Given the description of an element on the screen output the (x, y) to click on. 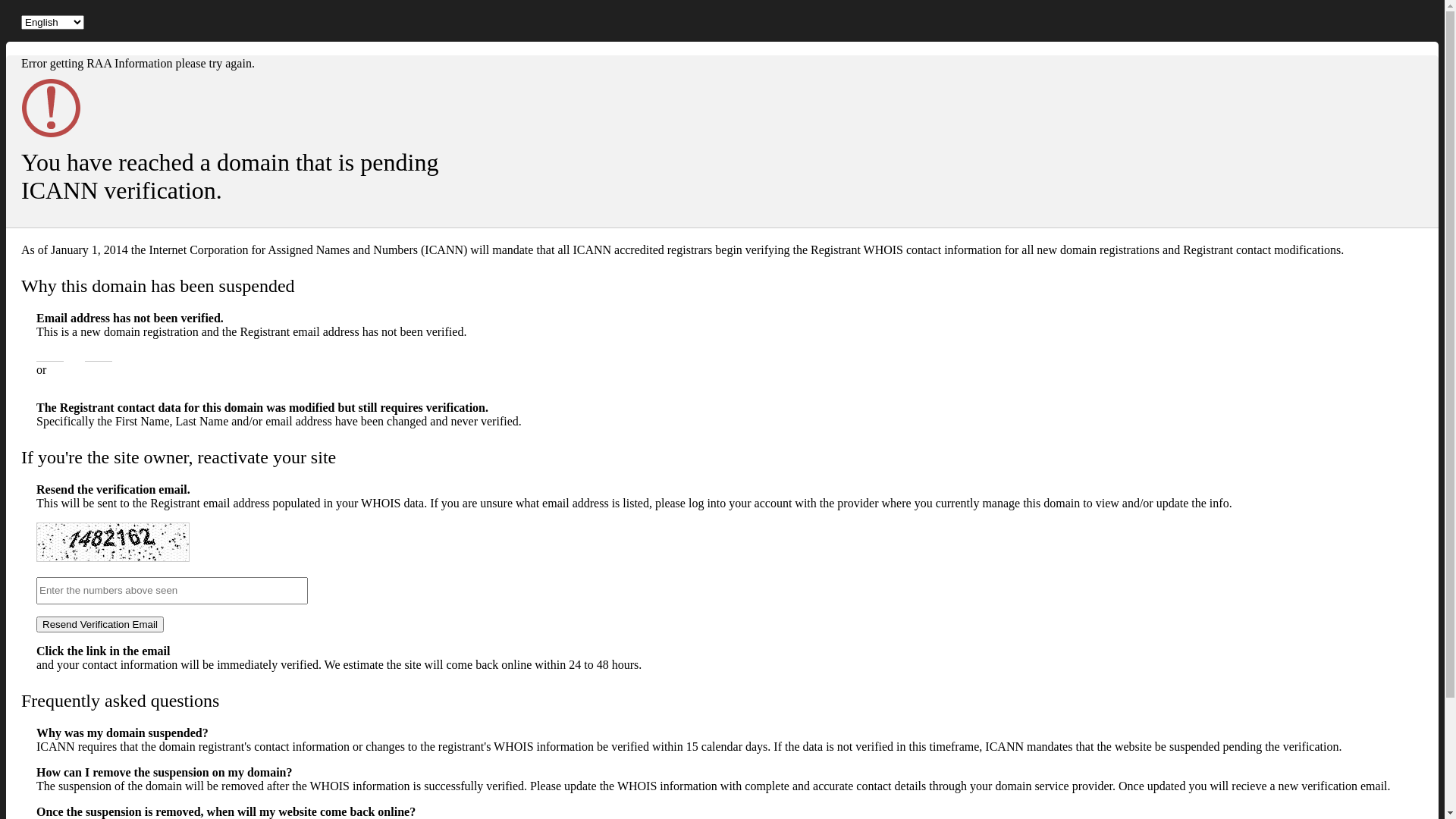
Resend Verification Email Element type: text (99, 624)
